Given the description of an element on the screen output the (x, y) to click on. 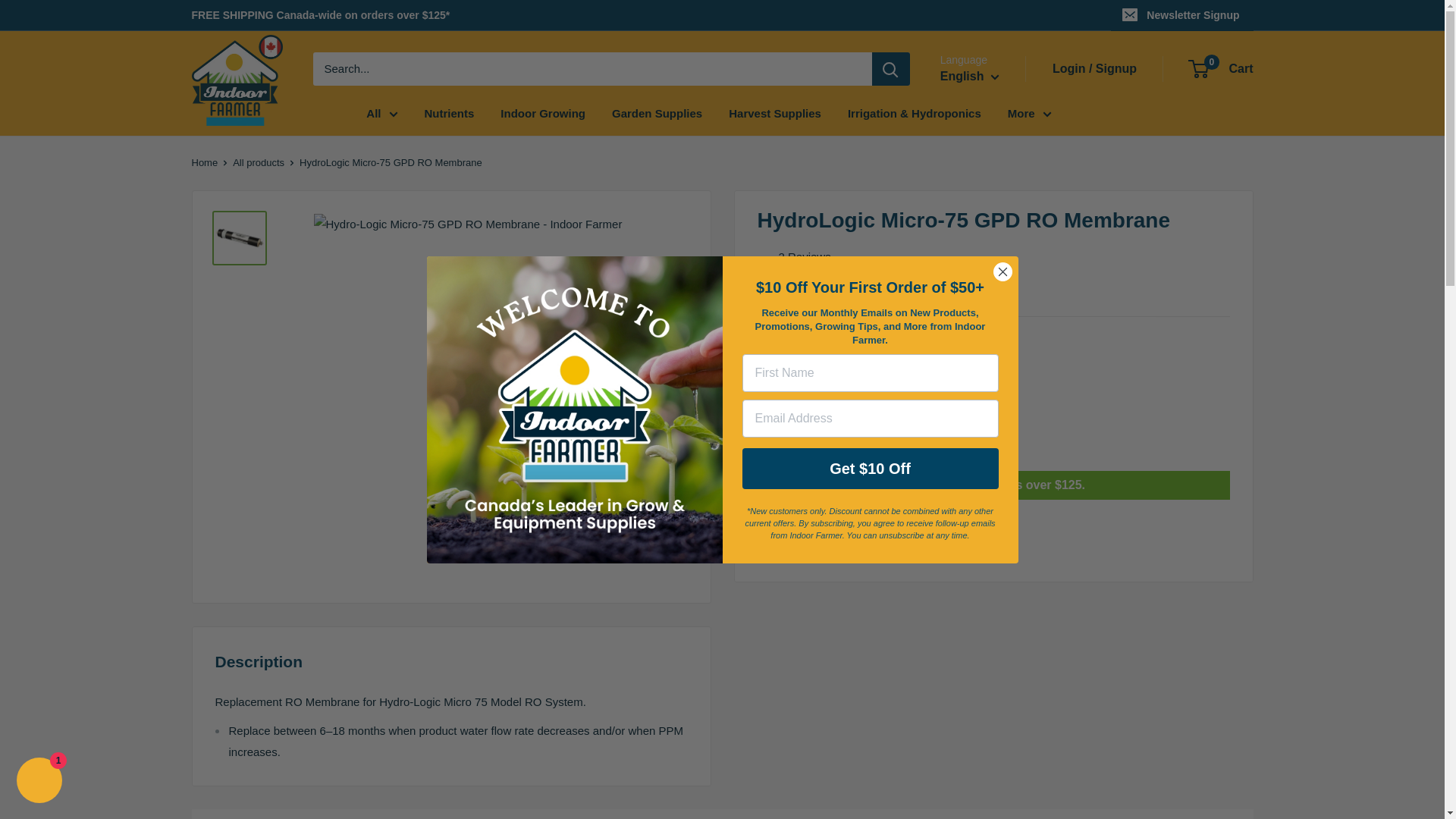
Newsletter Signup (1181, 15)
Decrease quantity by 1 (832, 432)
1 (872, 432)
Shopify online store chat (38, 781)
Increase quantity by 1 (912, 432)
Welcome to Indoor Farmer (574, 409)
